Given the description of an element on the screen output the (x, y) to click on. 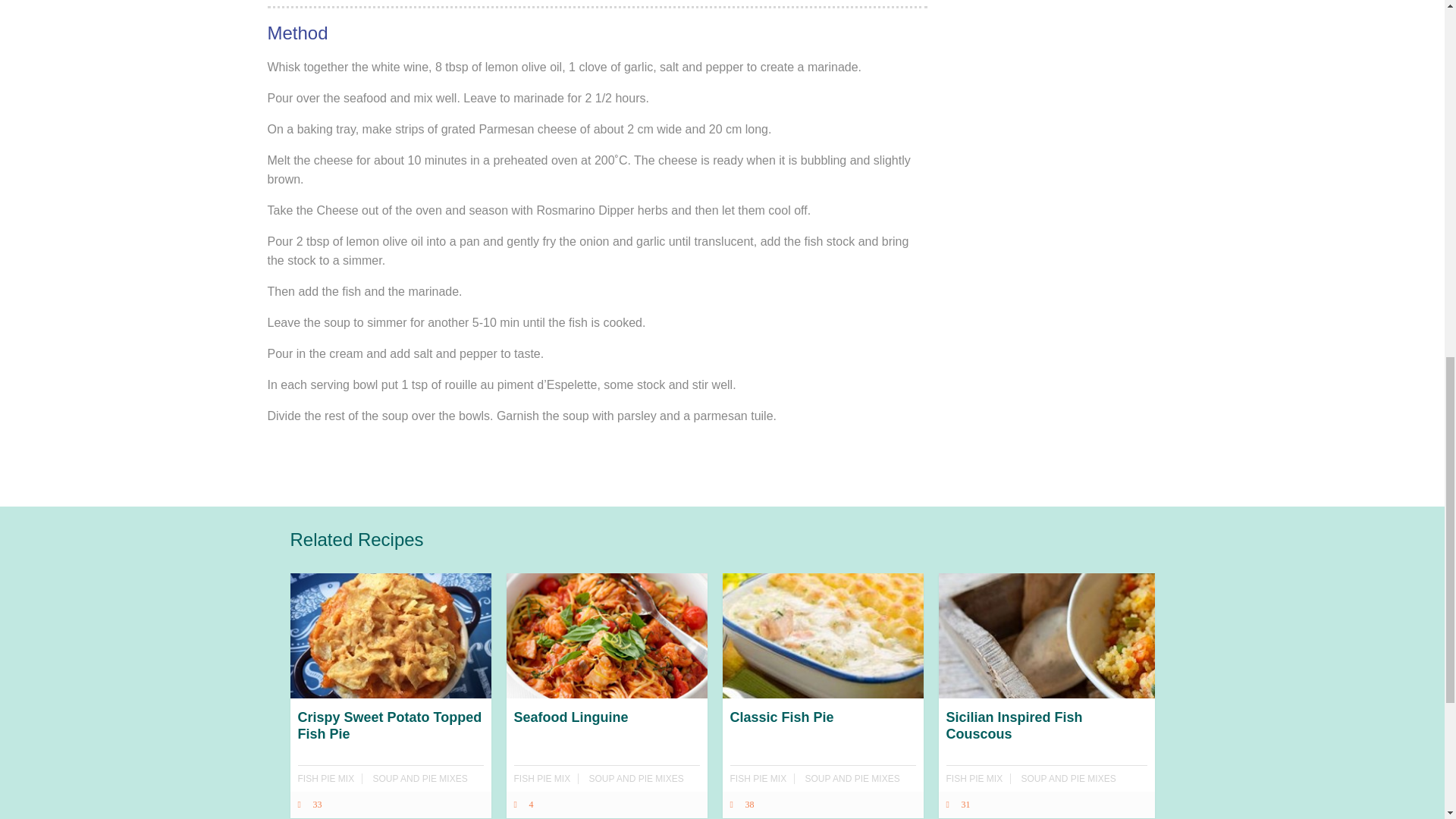
See more Fish pie mix recipes (541, 778)
See more Fish pie mix recipes (974, 778)
Crispy Sweet Potato Topped Fish Pie (389, 752)
SOUP AND PIE MIXES (852, 778)
See more Soup and Pie mixes recipes (419, 778)
Sicilian Inspired Fish Couscous (1046, 752)
See more Soup and Pie mixes recipes (1069, 778)
SOUP AND PIE MIXES (636, 778)
See more Fish pie mix recipes (757, 778)
See more Soup and Pie mixes recipes (852, 778)
FISH PIE MIX (541, 778)
See more Soup and Pie mixes recipes (636, 778)
SOUP AND PIE MIXES (1069, 778)
See more Fish pie mix recipes (325, 778)
FISH PIE MIX (974, 778)
